Given the description of an element on the screen output the (x, y) to click on. 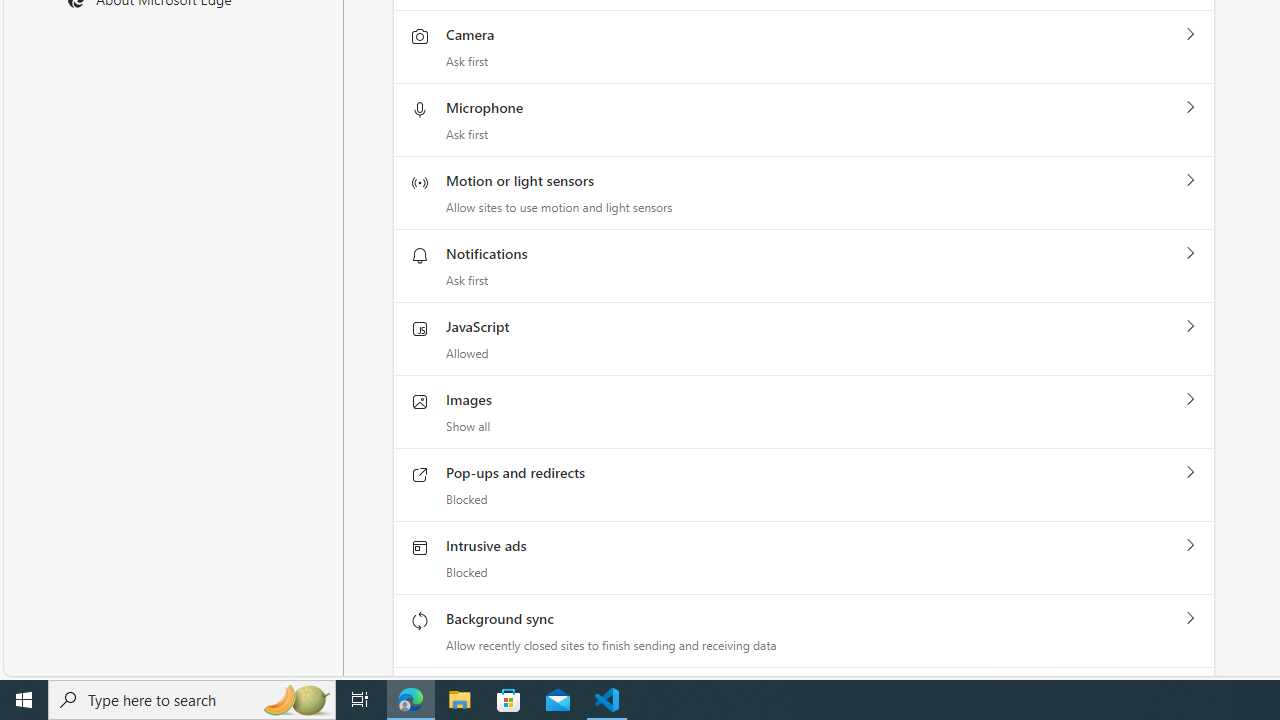
Microphone (1190, 107)
Camera (1190, 35)
Intrusive ads (1190, 545)
JavaScript (1190, 326)
Pop-ups and redirects (1190, 473)
Background sync (1190, 619)
Motion or light sensors (1190, 180)
Automatic downloads (1190, 691)
Images (1190, 400)
